Given the description of an element on the screen output the (x, y) to click on. 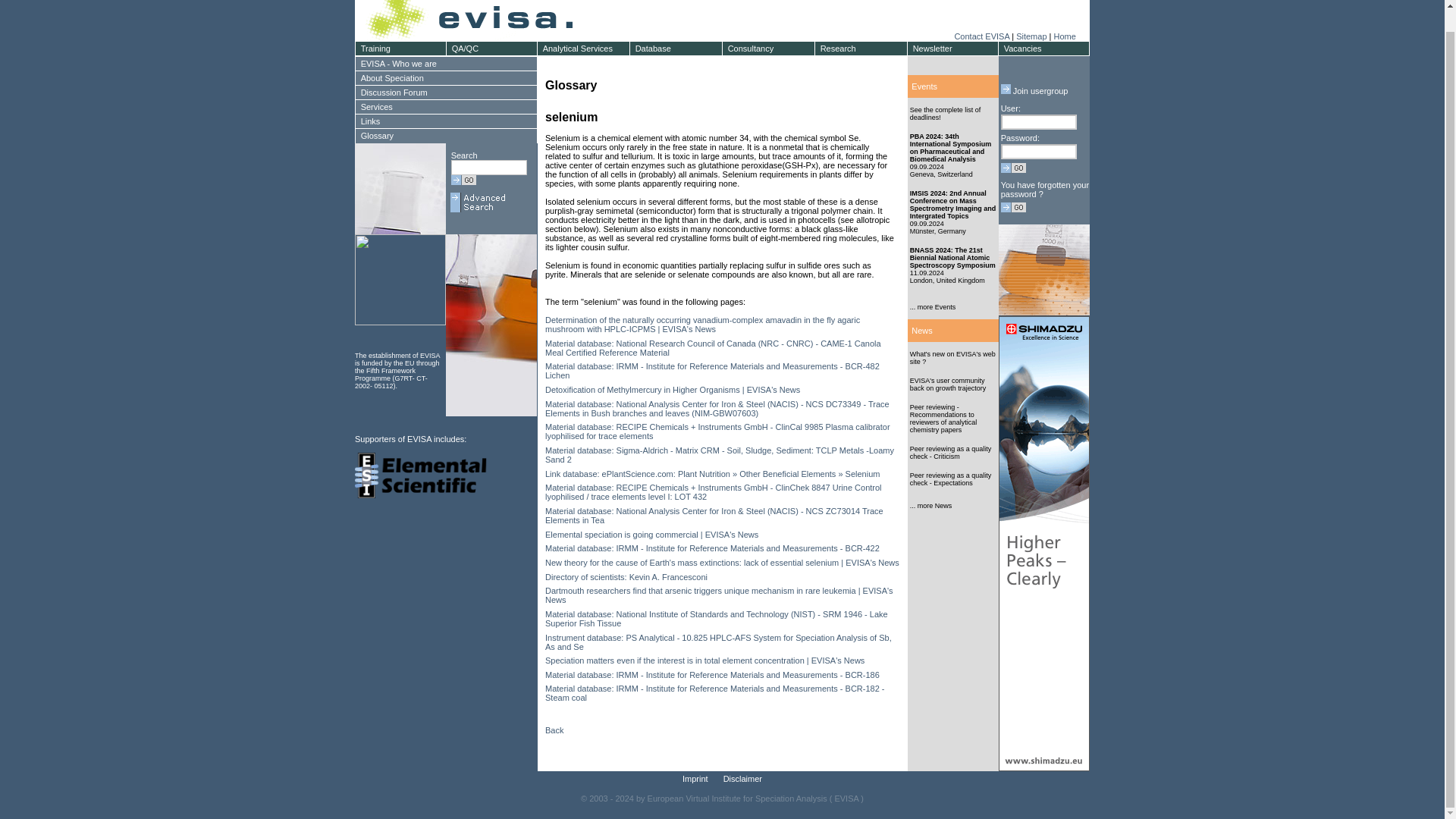
go (463, 180)
Contact EVISA (981, 35)
Sitemap (1031, 35)
Home (1063, 35)
